Given the description of an element on the screen output the (x, y) to click on. 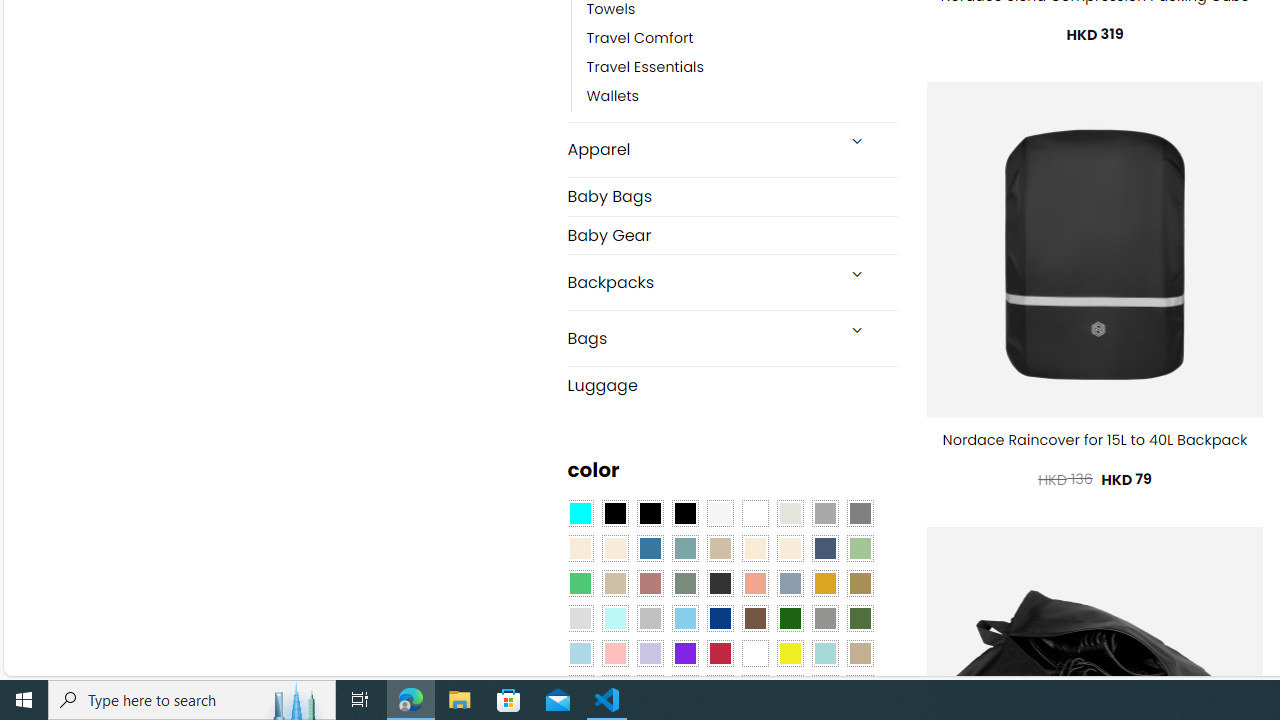
Baby Gear (732, 234)
Beige (579, 548)
Silver (650, 619)
Charcoal (719, 583)
Travel Essentials (645, 67)
Kelp (859, 583)
Beige-Brown (614, 548)
Caramel (755, 548)
Blue (650, 548)
Pearly White (719, 514)
Dark Gray (824, 514)
Green (859, 619)
Nordace Raincover for 15L to 40L Backpack (1095, 440)
Wallets (742, 97)
Backpacks (700, 282)
